Given the description of an element on the screen output the (x, y) to click on. 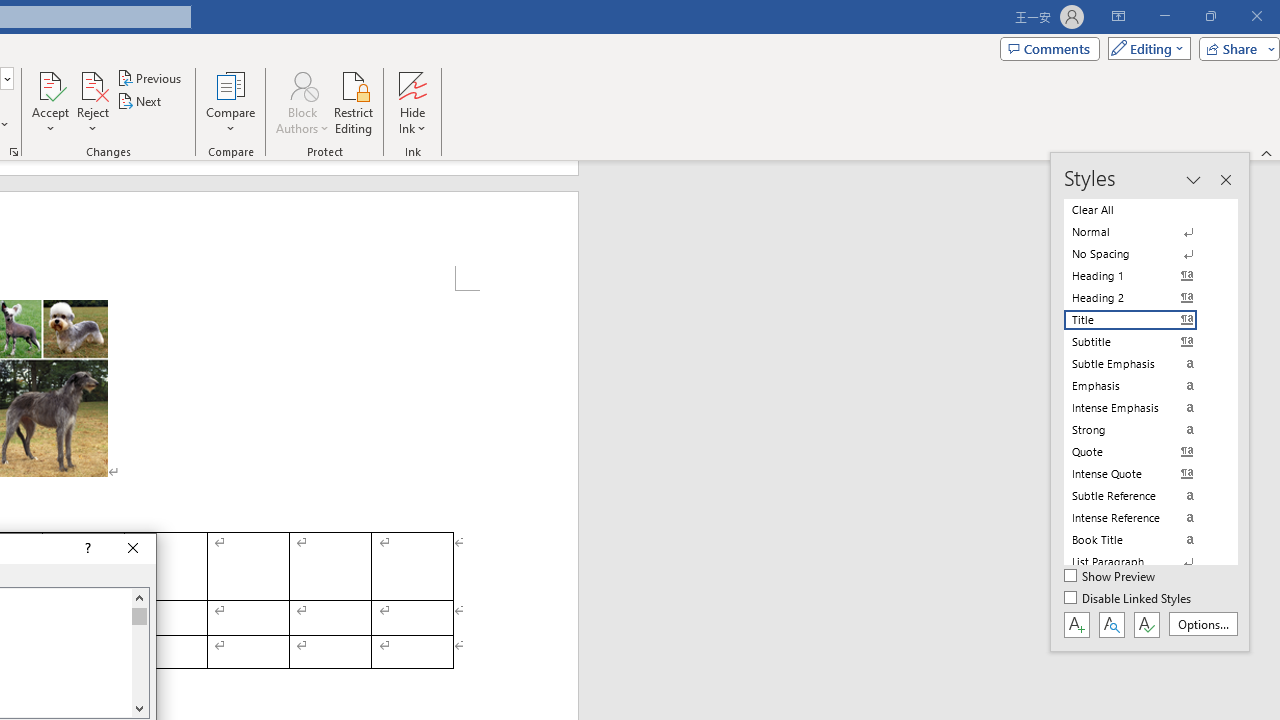
Next (140, 101)
Disable Linked Styles (1129, 599)
Subtle Emphasis (1142, 363)
Strong (1142, 429)
Accept and Move to Next (50, 84)
Block Authors (302, 102)
Show Preview (1110, 577)
Subtle Reference (1142, 495)
Change Tracking Options... (13, 151)
Line down (139, 708)
Heading 2 (1142, 297)
Book Title (1142, 539)
